Given the description of an element on the screen output the (x, y) to click on. 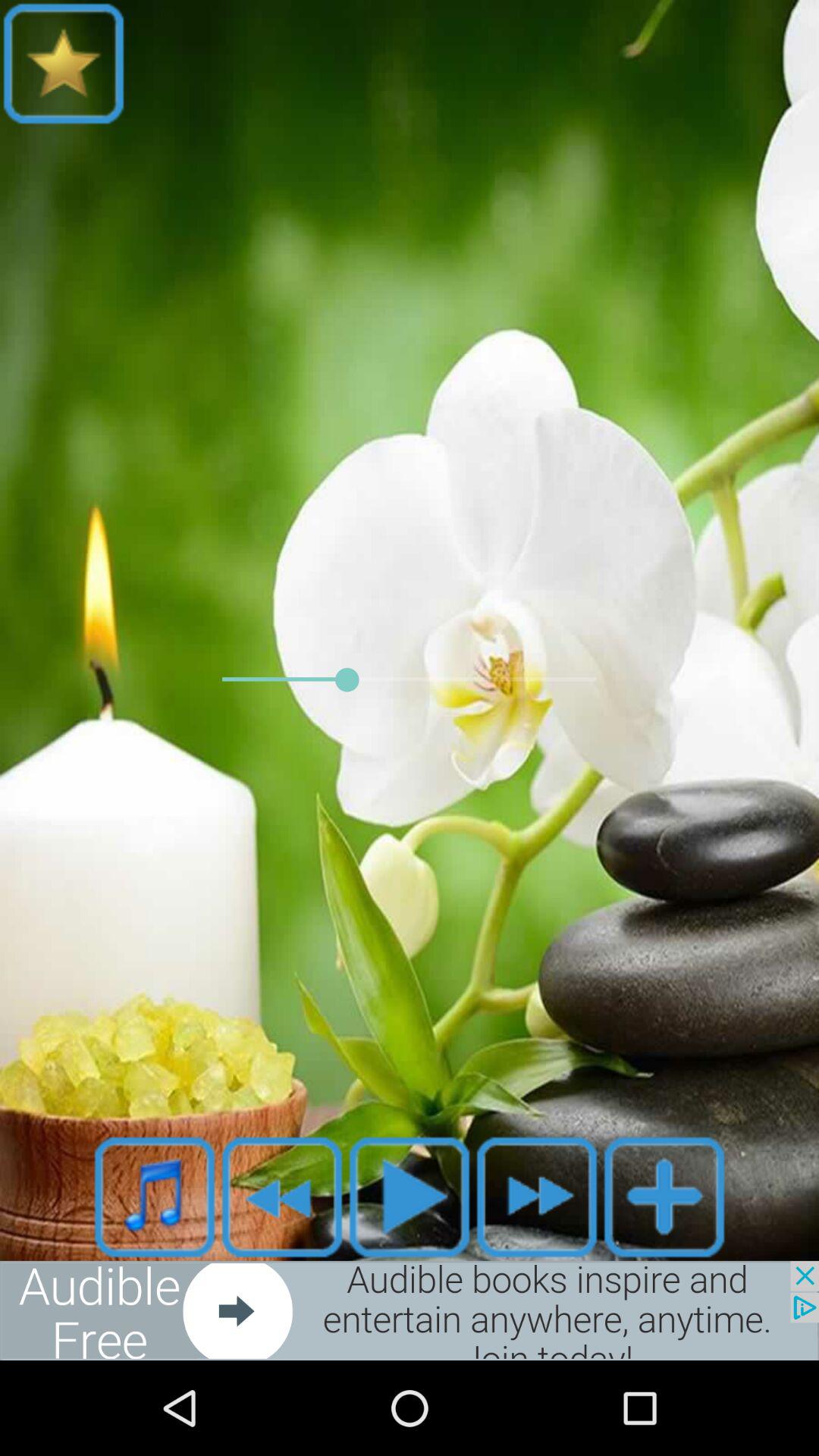
open music list (154, 1196)
